Given the description of an element on the screen output the (x, y) to click on. 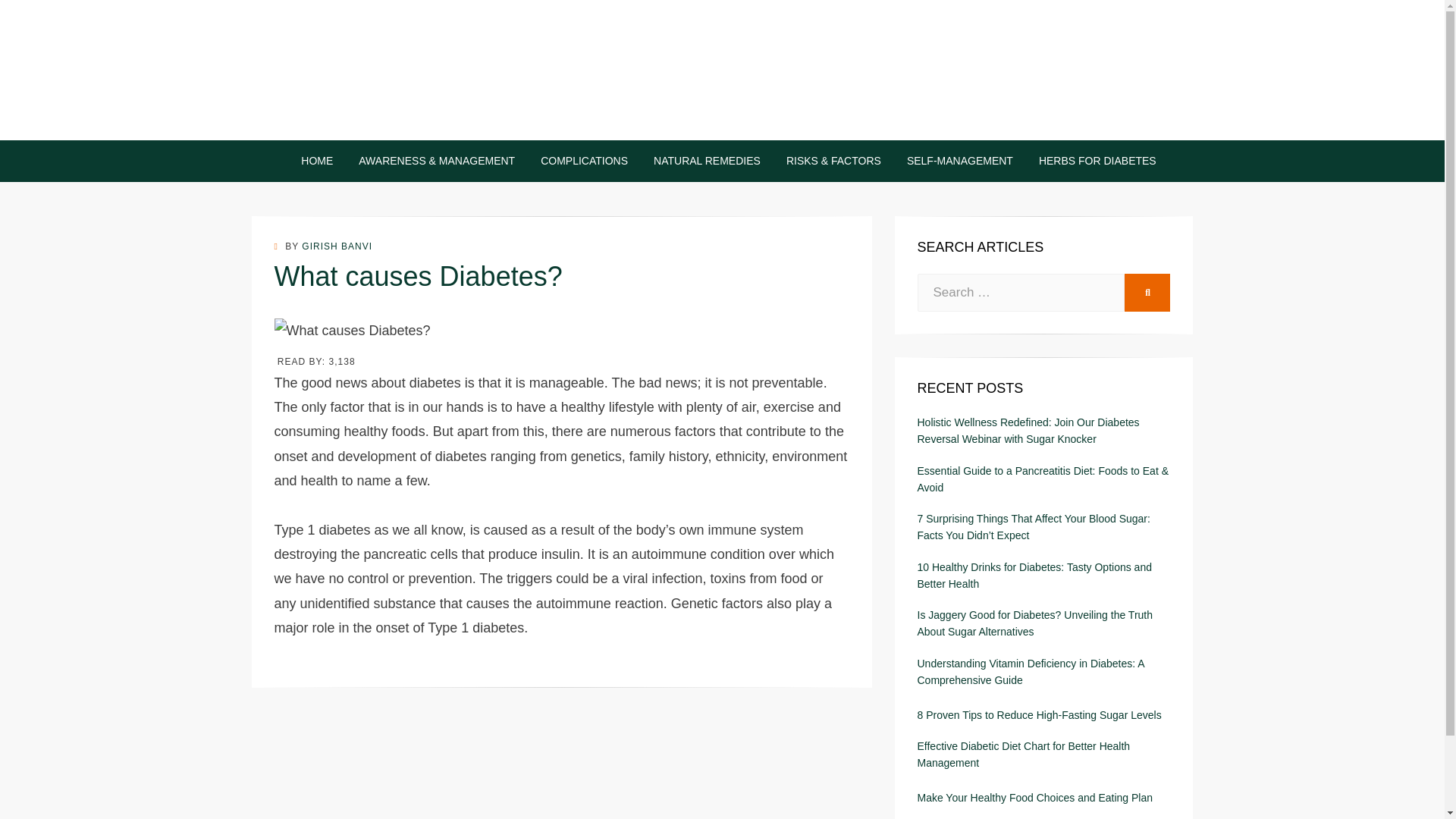
HERBS FOR DIABETES (1091, 160)
COMPLICATIONS (583, 160)
Search for: (1021, 292)
Make Your Healthy Food Choices and Eating Plan (1035, 797)
NATURAL REMEDIES (706, 160)
HOME (317, 160)
SEARCH (1147, 292)
What causes Diabetes? (352, 330)
GIRISH BANVI (336, 245)
Effective Diabetic Diet Chart for Better Health Management (1043, 754)
8 Proven Tips to Reduce High-Fasting Sugar Levels  (1040, 714)
